Given the description of an element on the screen output the (x, y) to click on. 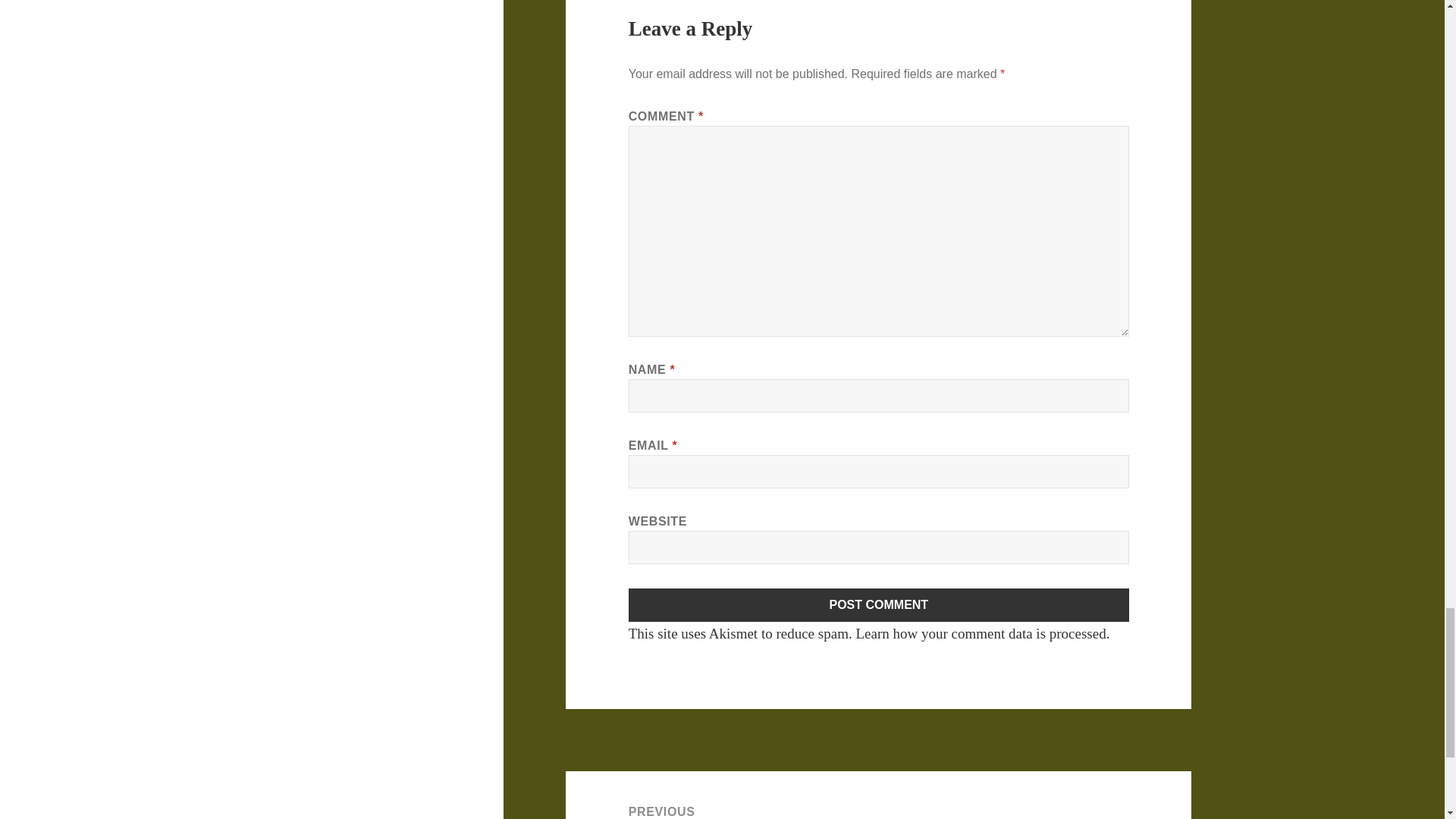
Post Comment (878, 604)
Learn how your comment data is processed (980, 633)
Post Comment (878, 604)
